Given the description of an element on the screen output the (x, y) to click on. 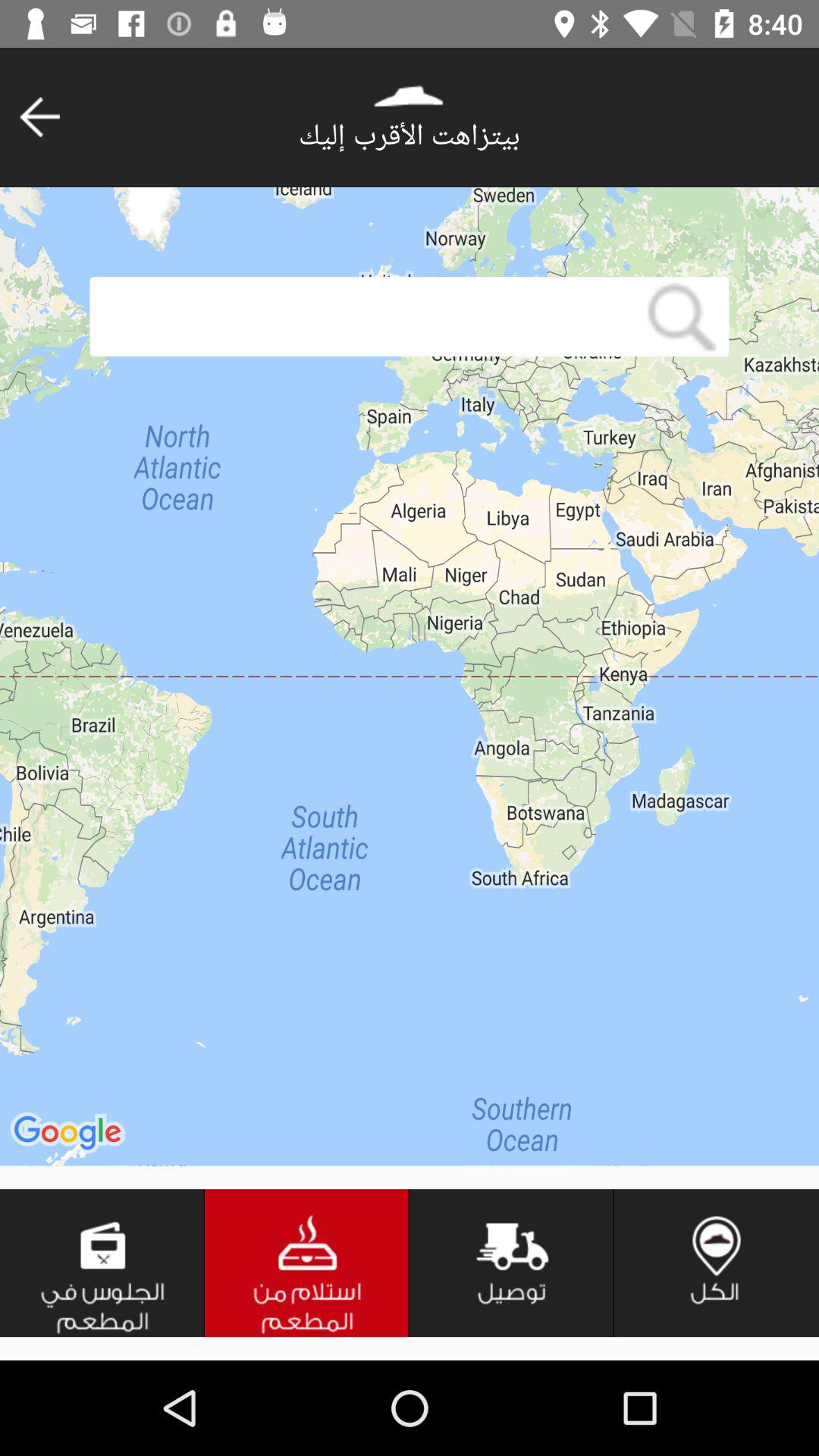
turn off item at the center (409, 676)
